Given the description of an element on the screen output the (x, y) to click on. 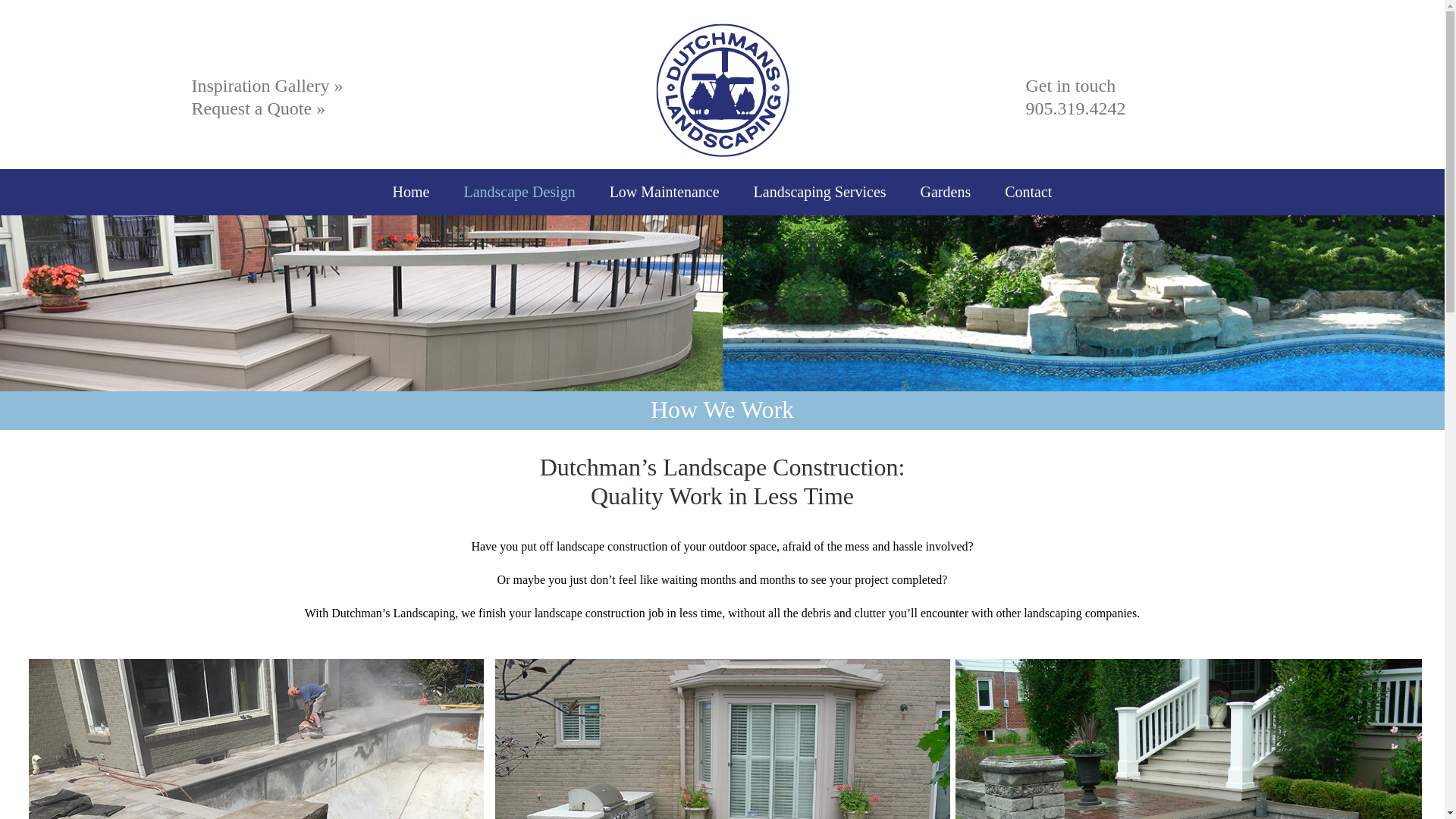
Low Maintenance (664, 191)
Landscaping Services (820, 191)
Contact (1027, 191)
Gardens (945, 191)
905.319.4242 (1075, 108)
Landscape Design (519, 191)
